Given the description of an element on the screen output the (x, y) to click on. 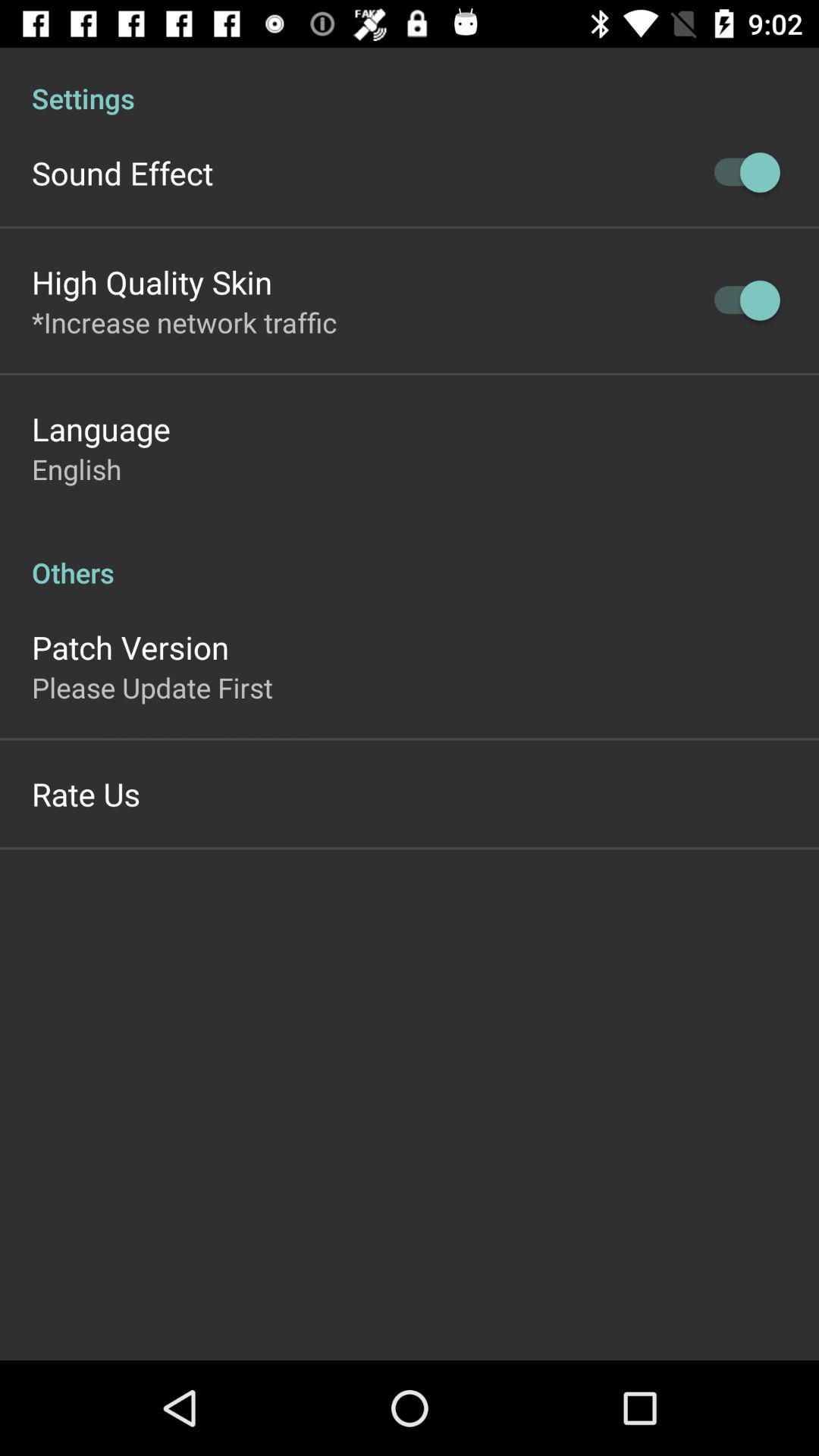
click the patch version item (130, 646)
